Given the description of an element on the screen output the (x, y) to click on. 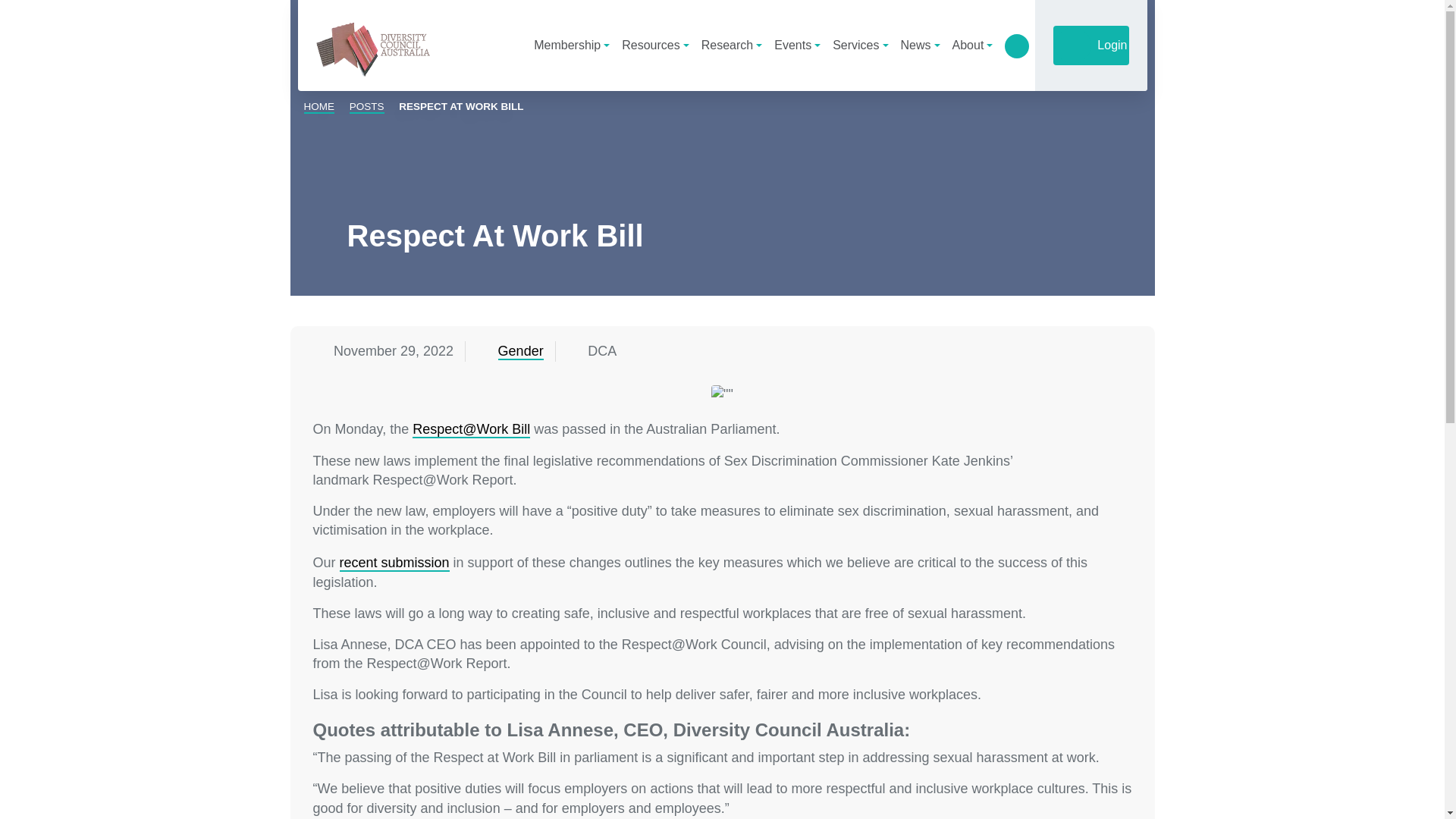
Resources (654, 45)
Membership (571, 45)
News (920, 45)
Events (797, 45)
Research (731, 45)
Services (860, 45)
